Given the description of an element on the screen output the (x, y) to click on. 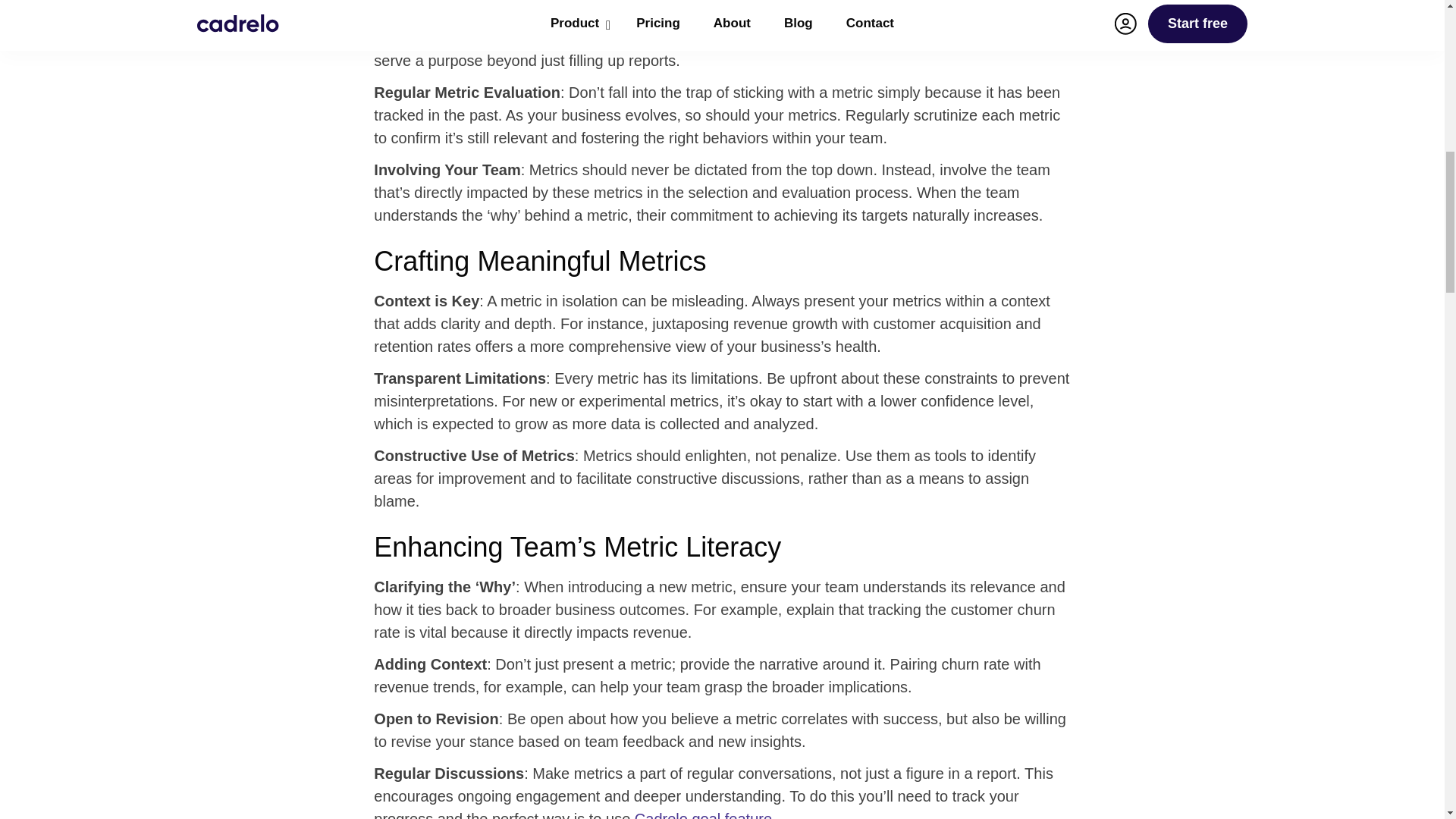
Cadrelo goal feature (702, 814)
